Given the description of an element on the screen output the (x, y) to click on. 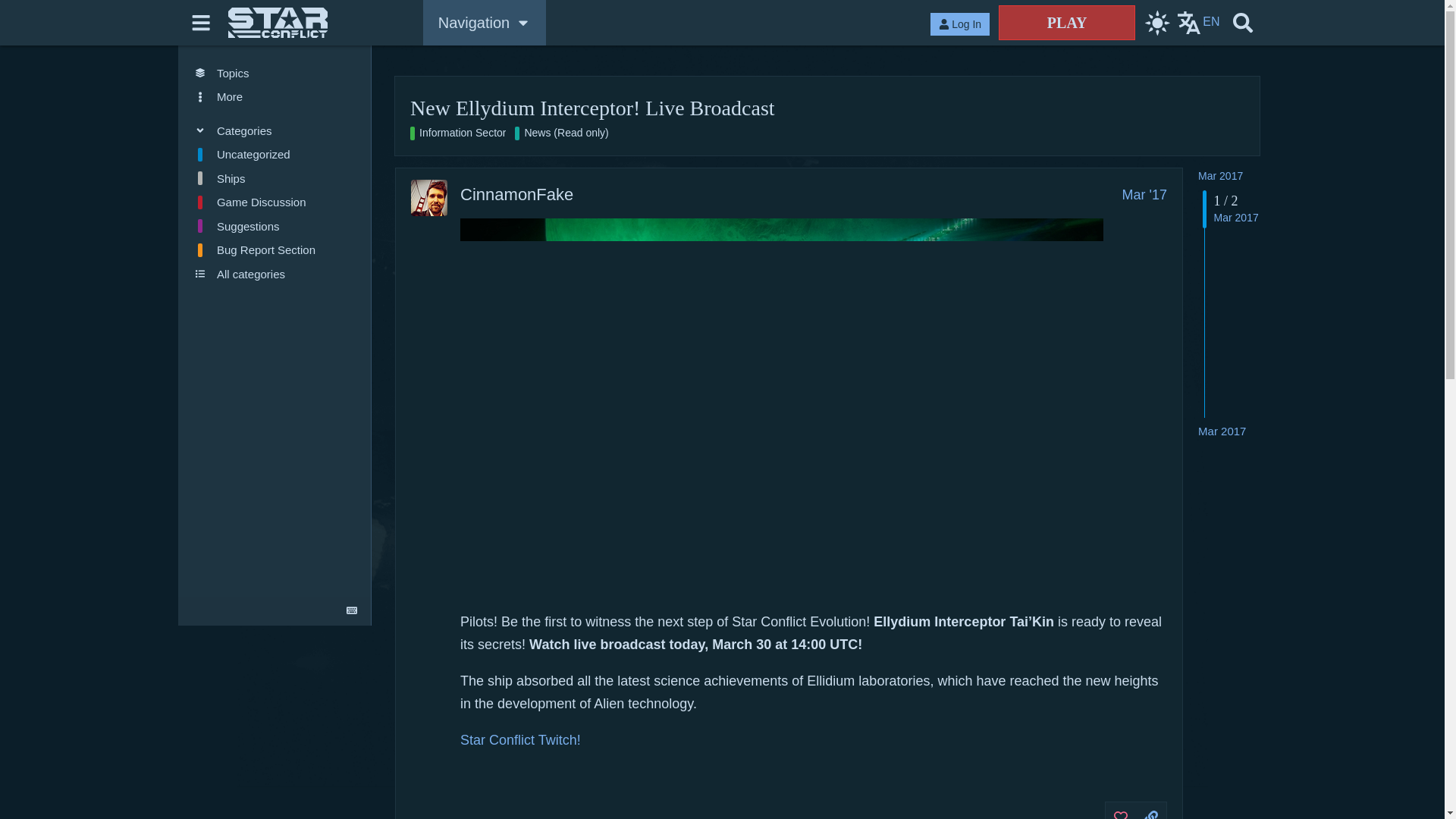
Play (1066, 22)
Mar '17 (1144, 194)
PLAY (1066, 22)
All topics (274, 72)
CinnamonFake (516, 194)
Suggestions (274, 225)
All discussions about ships. (274, 178)
Recent news about Star Conflict. (566, 133)
Topics (274, 72)
Bug Report Section (274, 250)
Suggestion Guideline (274, 225)
Search (1242, 22)
Toggle section (274, 130)
Keyboard Shortcuts (351, 610)
Star Conflict Twitch! (520, 739)
